Given the description of an element on the screen output the (x, y) to click on. 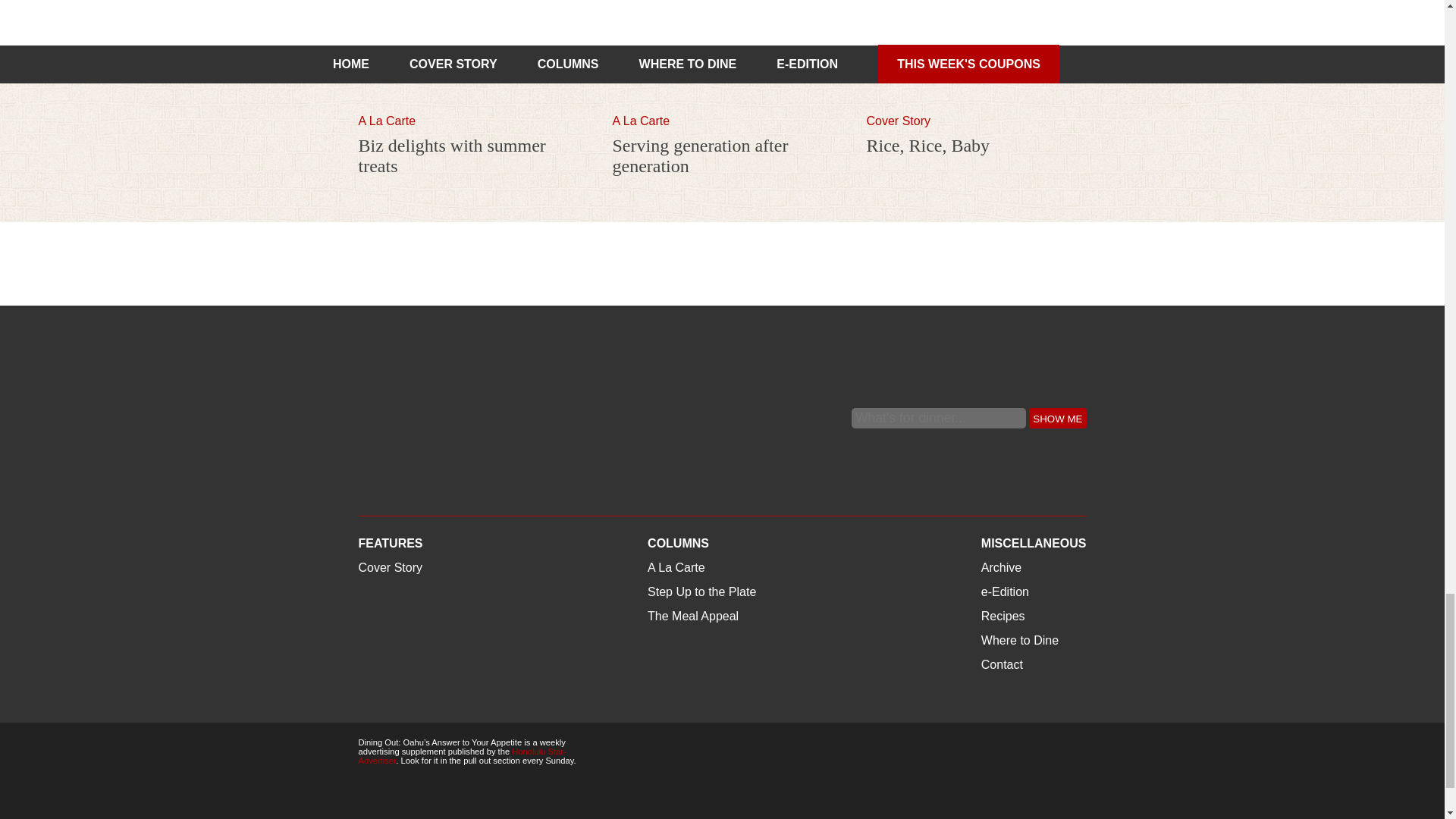
Serving generation after generation (700, 155)
Serving generation after generation (700, 155)
A La Carte (640, 120)
Serving generation after generation (722, 106)
Biz delights with summer treats (451, 155)
Rice, Rice, Baby (976, 106)
A La Carte (640, 120)
Biz delights with summer treats (468, 106)
A La Carte (386, 120)
Biz delights with summer treats (451, 155)
